Given the description of an element on the screen output the (x, y) to click on. 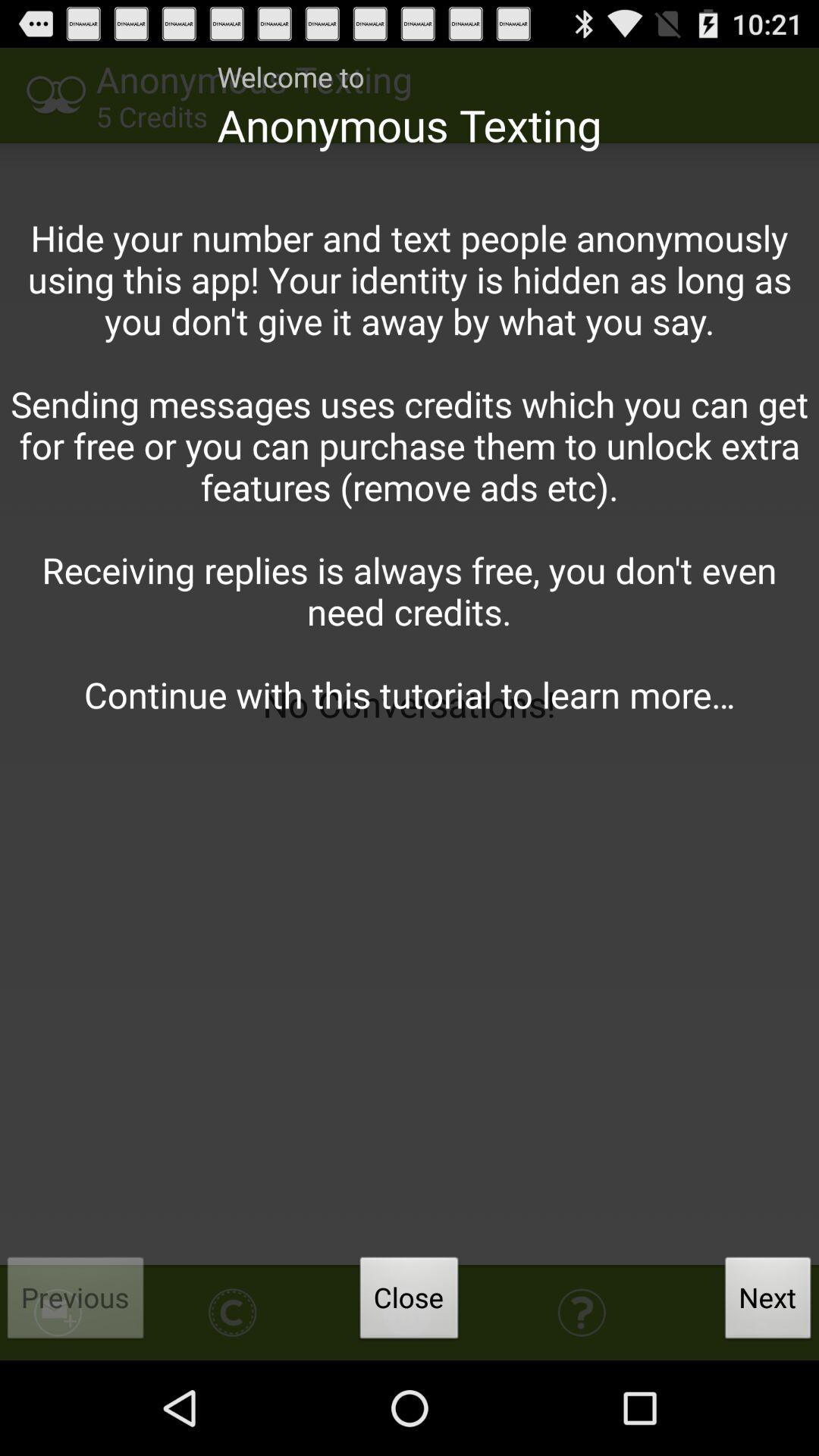
tap button next to previous item (409, 1302)
